Given the description of an element on the screen output the (x, y) to click on. 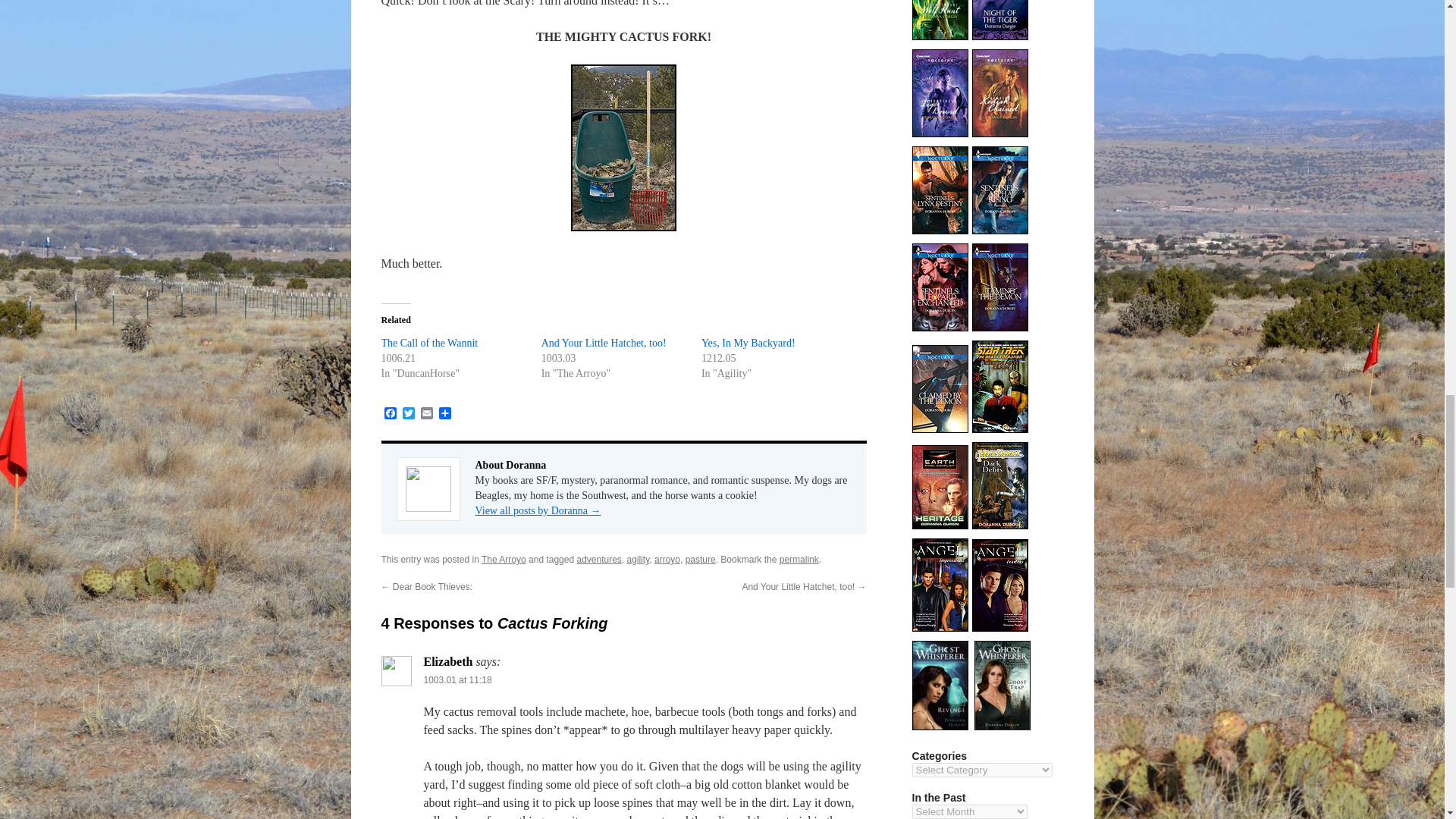
Email (425, 414)
pasture (700, 559)
adventures (598, 559)
permalink (798, 559)
And Your Little Hatchet, too! (603, 342)
The Arroyo (503, 559)
Twitter (407, 414)
The Call of the Wannit (428, 342)
And Your Little Hatchet, too! (603, 342)
Yes, In My Backyard! (747, 342)
